Given the description of an element on the screen output the (x, y) to click on. 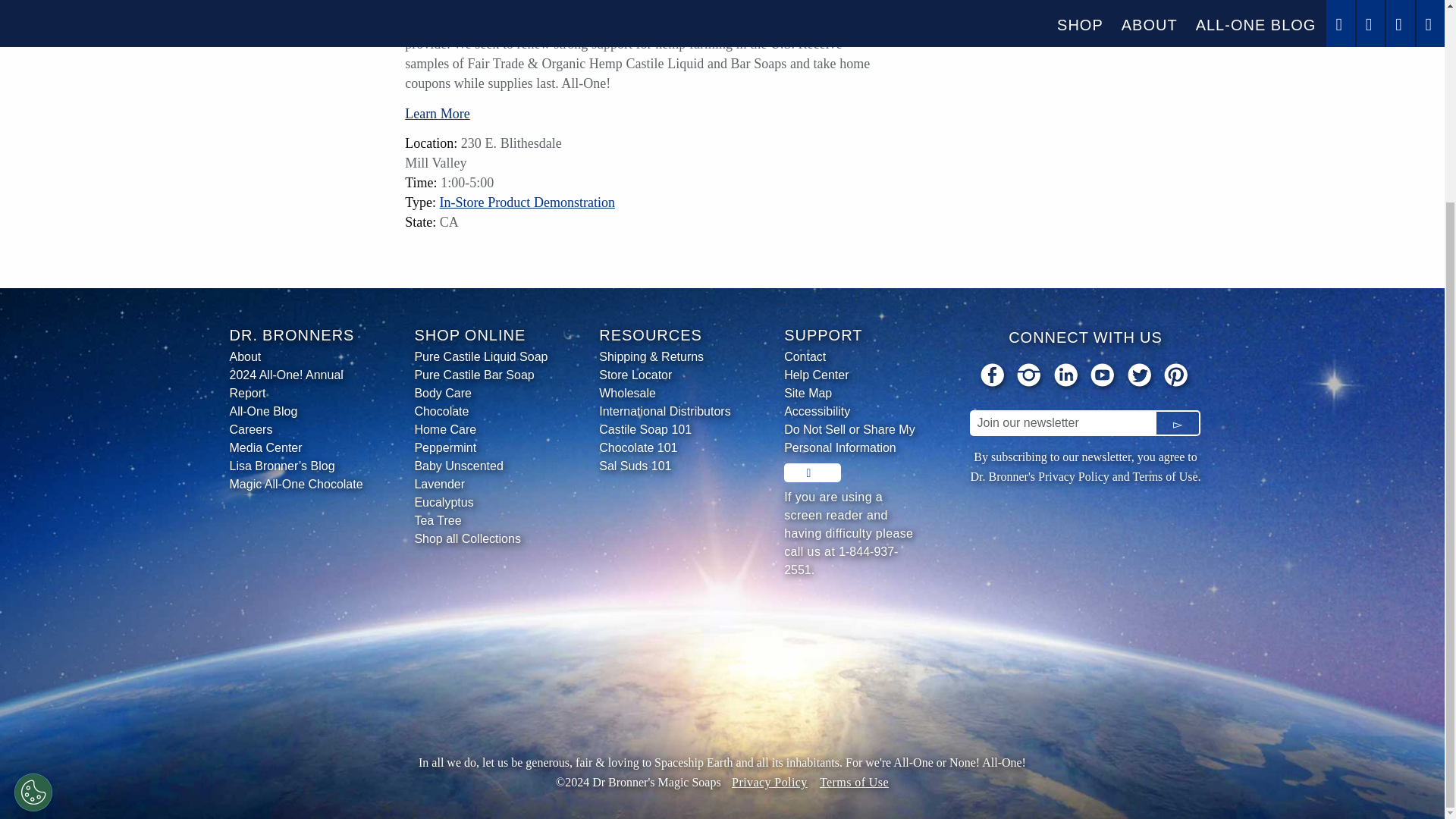
Home Care (482, 429)
Magic All-One Chocolate (297, 484)
Careers (297, 429)
Peppermint (482, 447)
2024 All-One! Annual Report (297, 384)
Media Center (297, 447)
Dr. Bronner's on YouTube (1103, 377)
Pure Castile Bar Soap (482, 375)
In-Store Product Demonstration (526, 201)
Chocolate (482, 411)
Dr. Bronner's on LinkedIn (1067, 377)
Baby Unscented (482, 466)
All-One Blog (297, 411)
Body Care (482, 393)
Eucalyptus (482, 502)
